Given the description of an element on the screen output the (x, y) to click on. 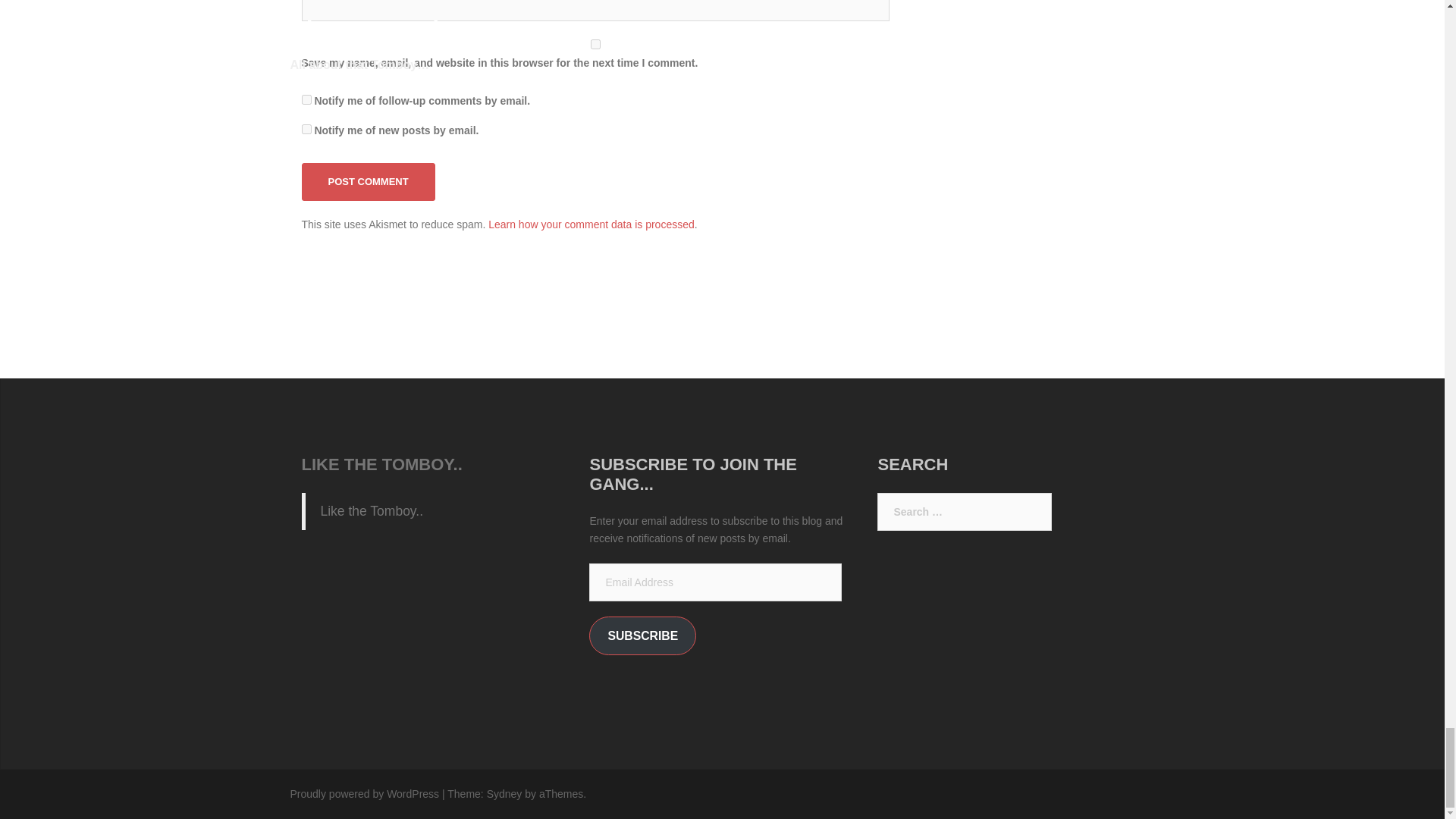
subscribe (306, 99)
yes (595, 44)
Post Comment (368, 181)
subscribe (306, 129)
